Given the description of an element on the screen output the (x, y) to click on. 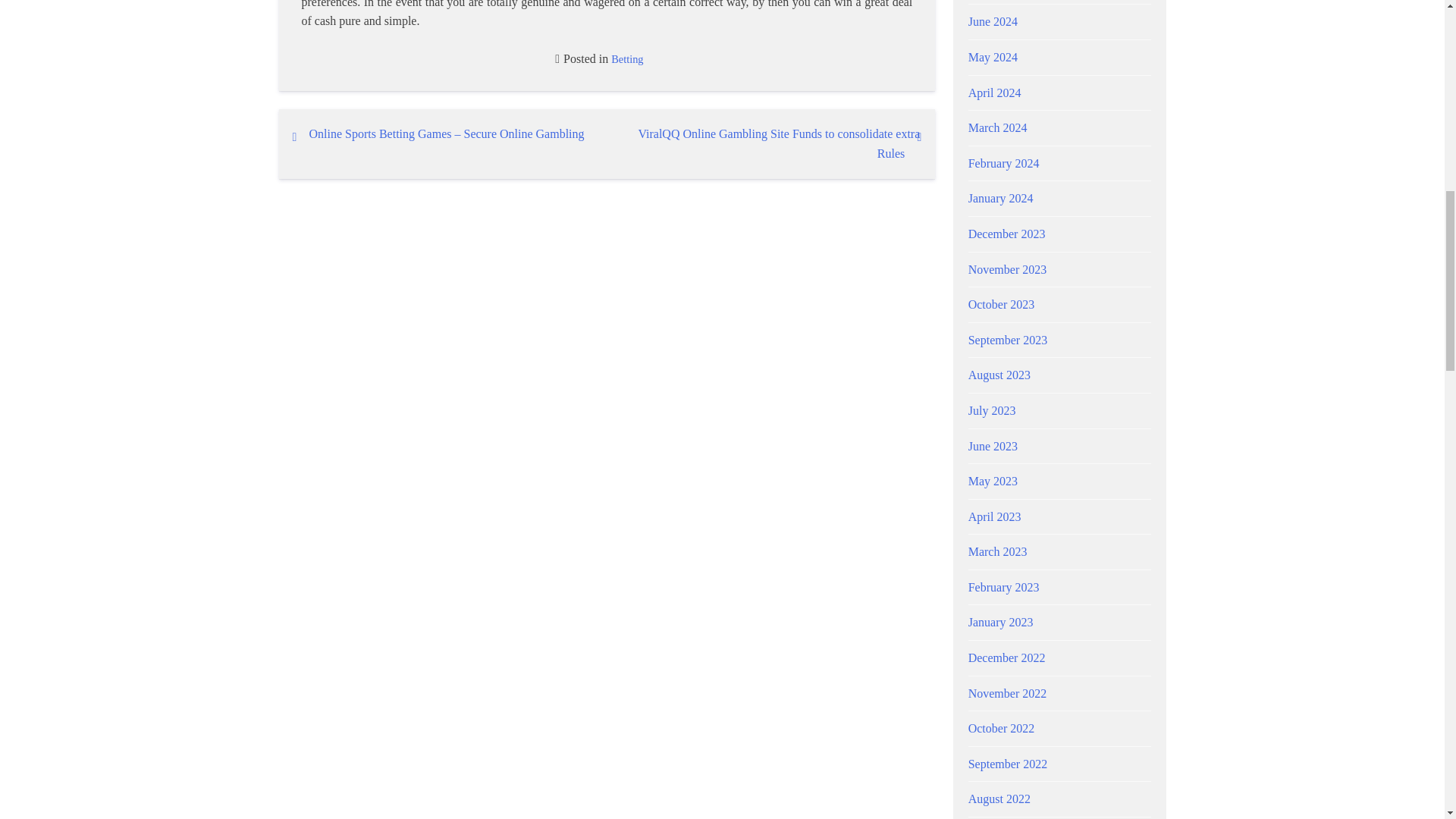
May 2023 (992, 481)
April 2024 (995, 92)
June 2023 (992, 445)
October 2023 (1001, 304)
March 2024 (997, 127)
July 2023 (992, 410)
Betting (627, 59)
June 2024 (992, 21)
August 2023 (999, 374)
